Given the description of an element on the screen output the (x, y) to click on. 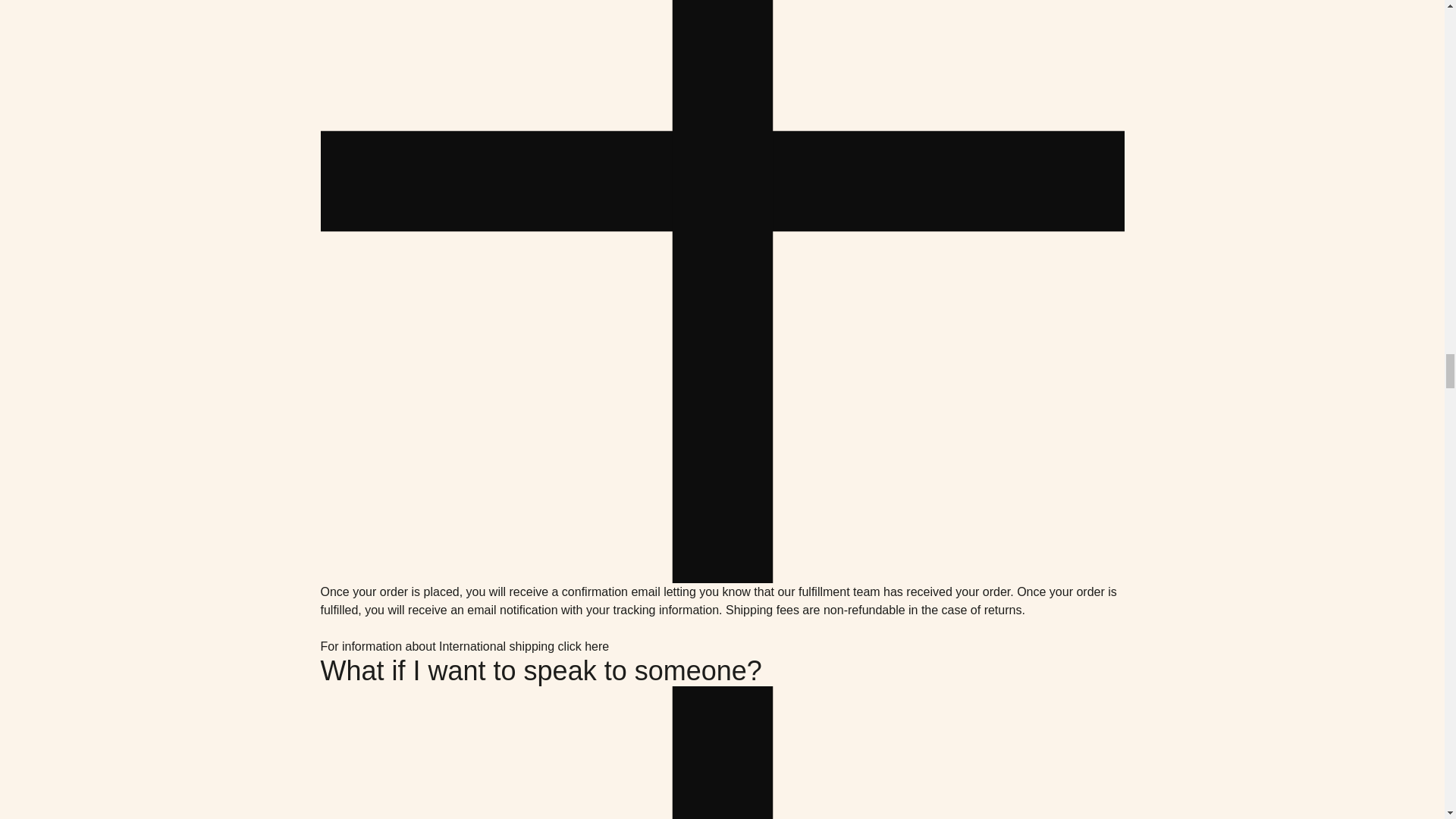
Shipping Policy (596, 647)
here (596, 647)
